Given the description of an element on the screen output the (x, y) to click on. 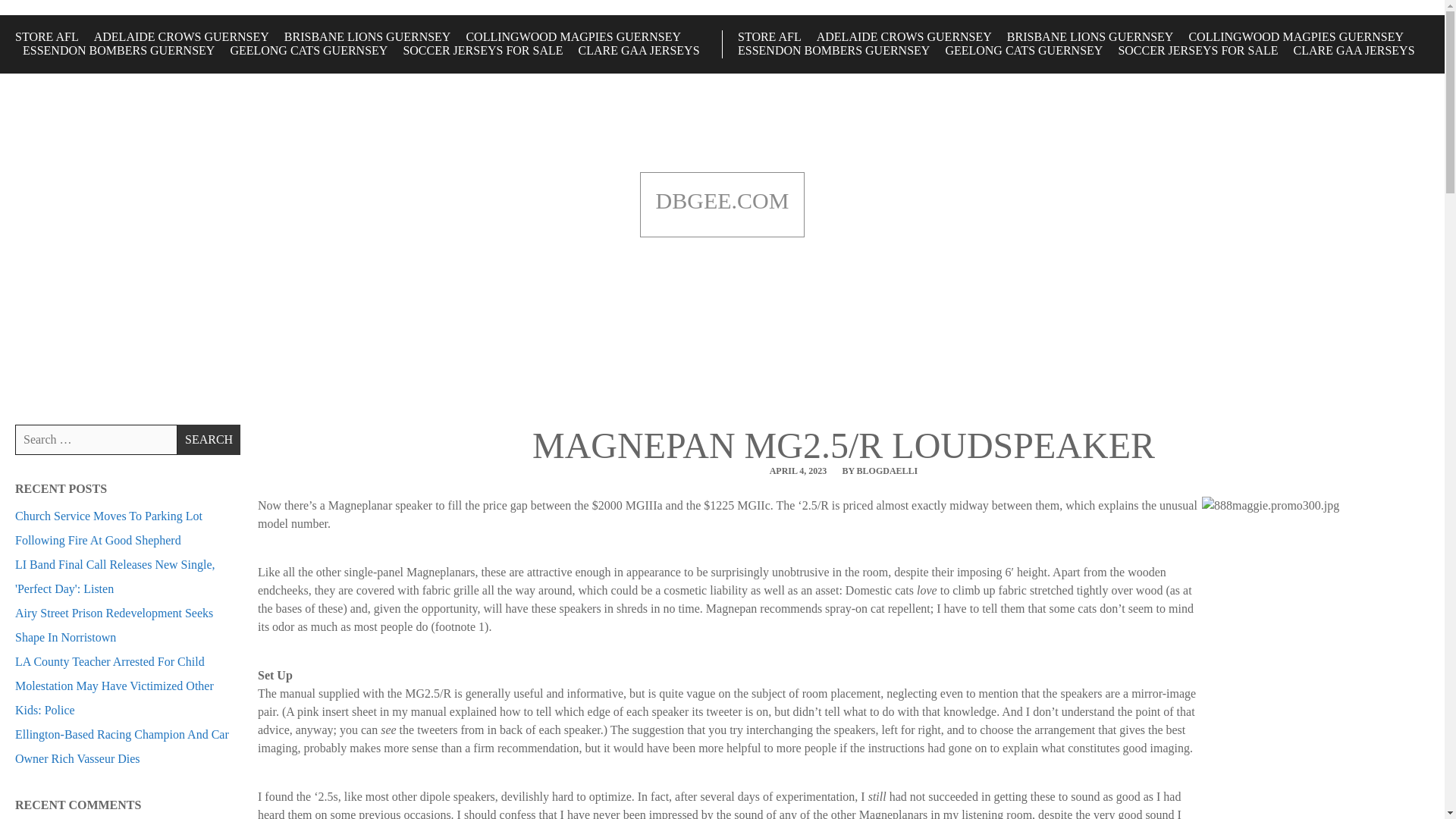
ESSENDON BOMBERS GUERNSEY (118, 50)
DBGEE.COM (722, 201)
Airy Street Prison Redevelopment Seeks Shape In Norristown (113, 624)
BRISBANE LIONS GUERNSEY (1090, 36)
STORE AFL (770, 36)
CLARE GAA JERSEYS (1354, 50)
SOCCER JERSEYS FOR SALE (482, 50)
Search (208, 440)
CLARE GAA JERSEYS (639, 50)
Search (208, 440)
COLLINGWOOD MAGPIES GUERNSEY (1295, 36)
ADELAIDE CROWS GUERNSEY (181, 36)
